Given the description of an element on the screen output the (x, y) to click on. 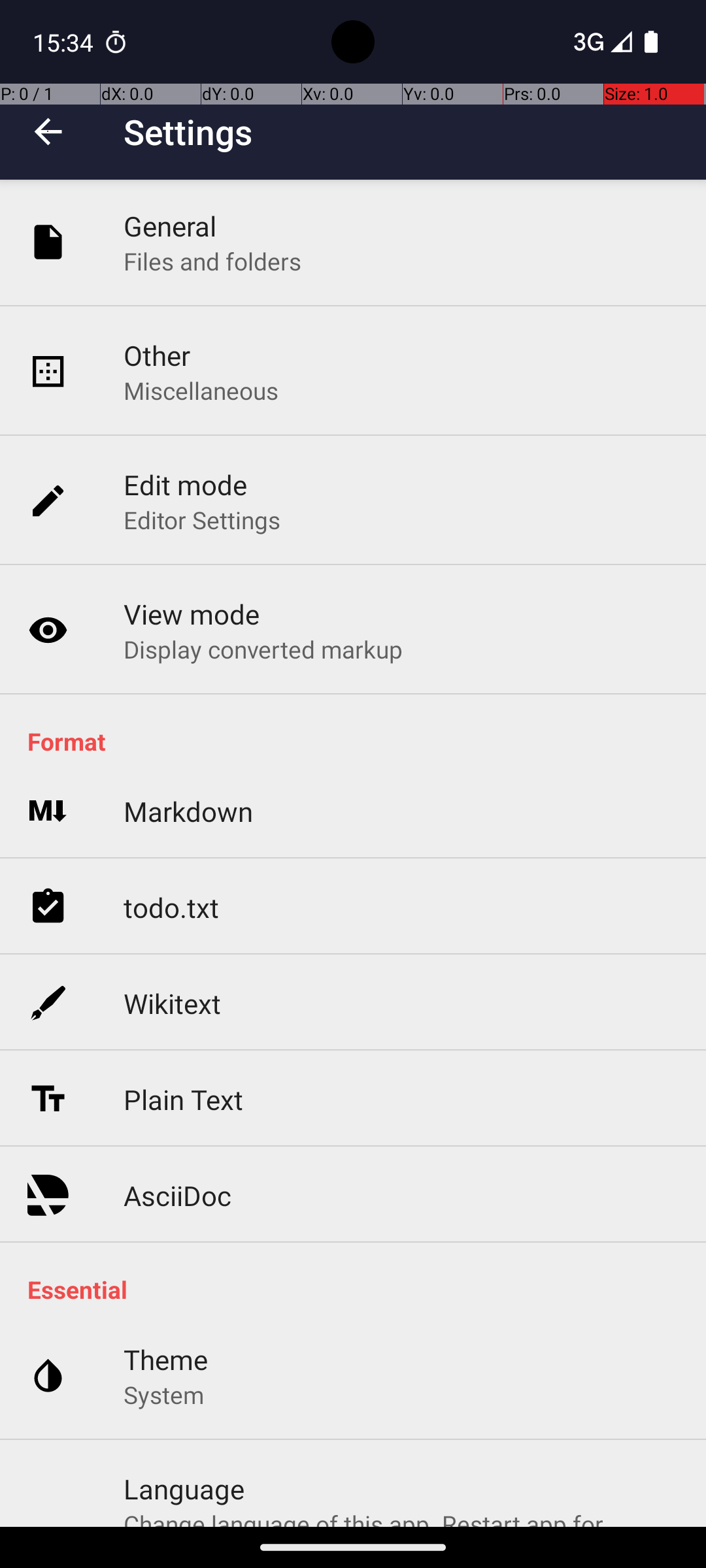
Essential Element type: android.widget.TextView (359, 1289)
Files and folders Element type: android.widget.TextView (212, 260)
Editor Settings Element type: android.widget.TextView (202, 519)
Display converted markup Element type: android.widget.TextView (263, 648)
Change language of this app. Restart app for changes to take effect

English (English, United States) Element type: android.widget.TextView (400, 1516)
